Given the description of an element on the screen output the (x, y) to click on. 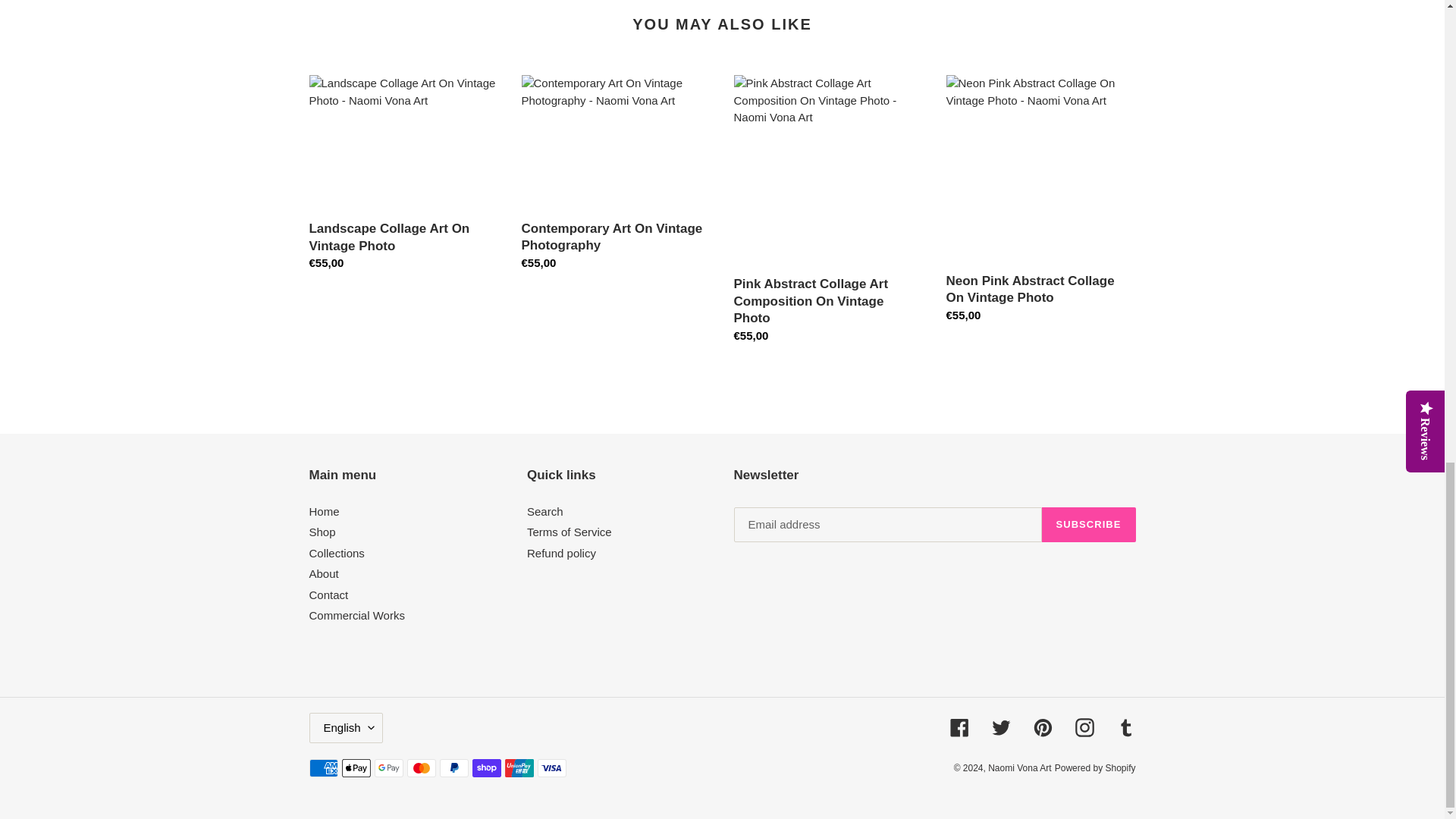
Commercial Works (356, 615)
Search (545, 511)
Home (323, 511)
Collections (336, 553)
Contemporary Art On Vintage Photography (616, 176)
Landscape Collage Art On Vintage Photo (403, 176)
Shop (322, 531)
Neon Pink Abstract Collage On Vintage Photo (1040, 202)
About (323, 573)
Pink Abstract Collage Art Composition On Vintage Photo (828, 212)
Contact (328, 594)
